Given the description of an element on the screen output the (x, y) to click on. 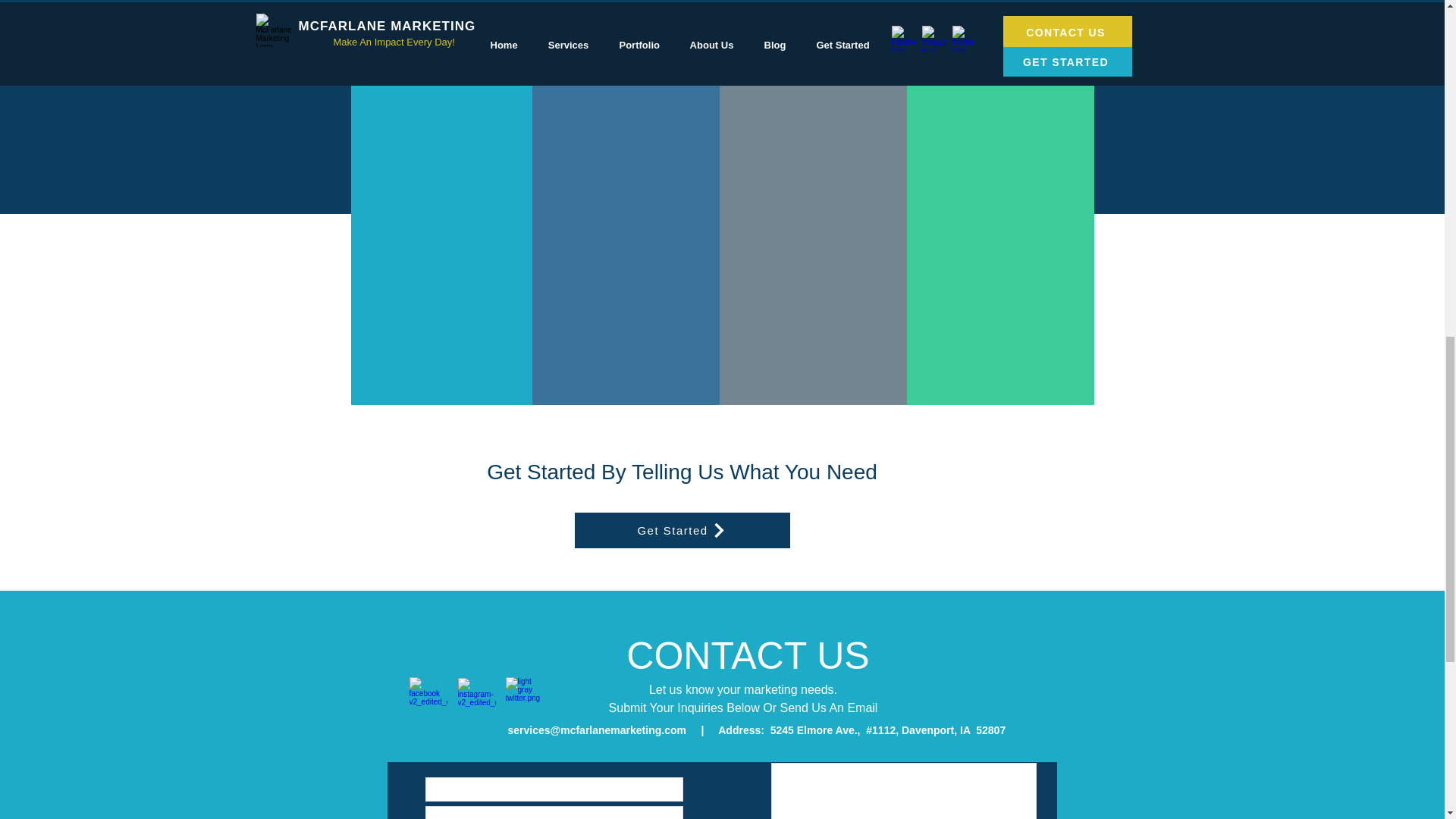
Get Started (681, 529)
